Given the description of an element on the screen output the (x, y) to click on. 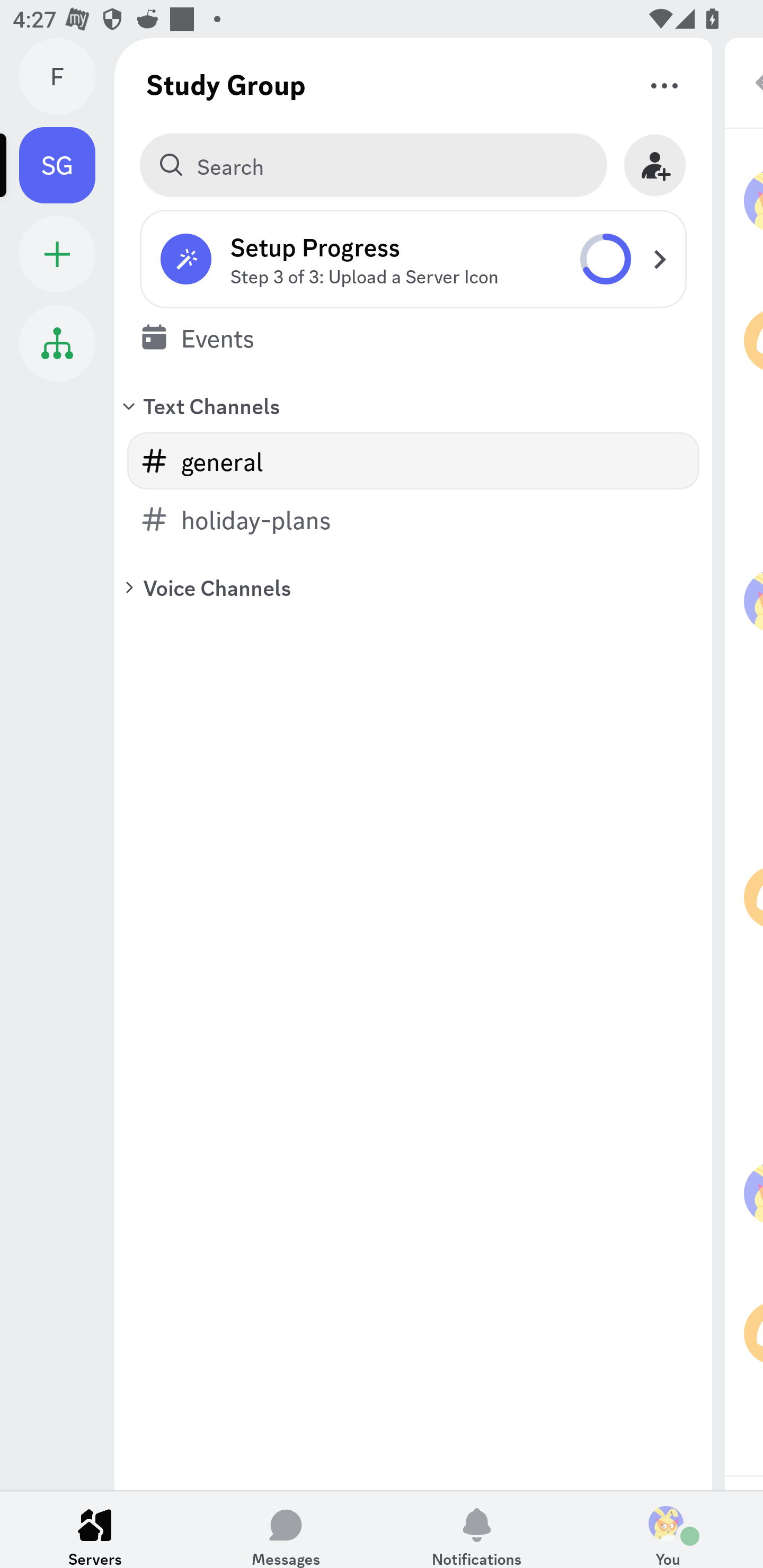
  Friends F (66, 75)
Study Group (226, 83)
  Study Group SG (66, 165)
Search (373, 165)
Invite (654, 165)
Add a Server (57, 253)
Student Hub (57, 343)
Events (413, 336)
Text Channels (412, 404)
general (text channel) general (413, 460)
holiday-plans (text channel) holiday-plans (413, 518)
Voice Channels (412, 586)
Servers (95, 1529)
Messages (285, 1529)
Notifications (476, 1529)
You (667, 1529)
